Given the description of an element on the screen output the (x, y) to click on. 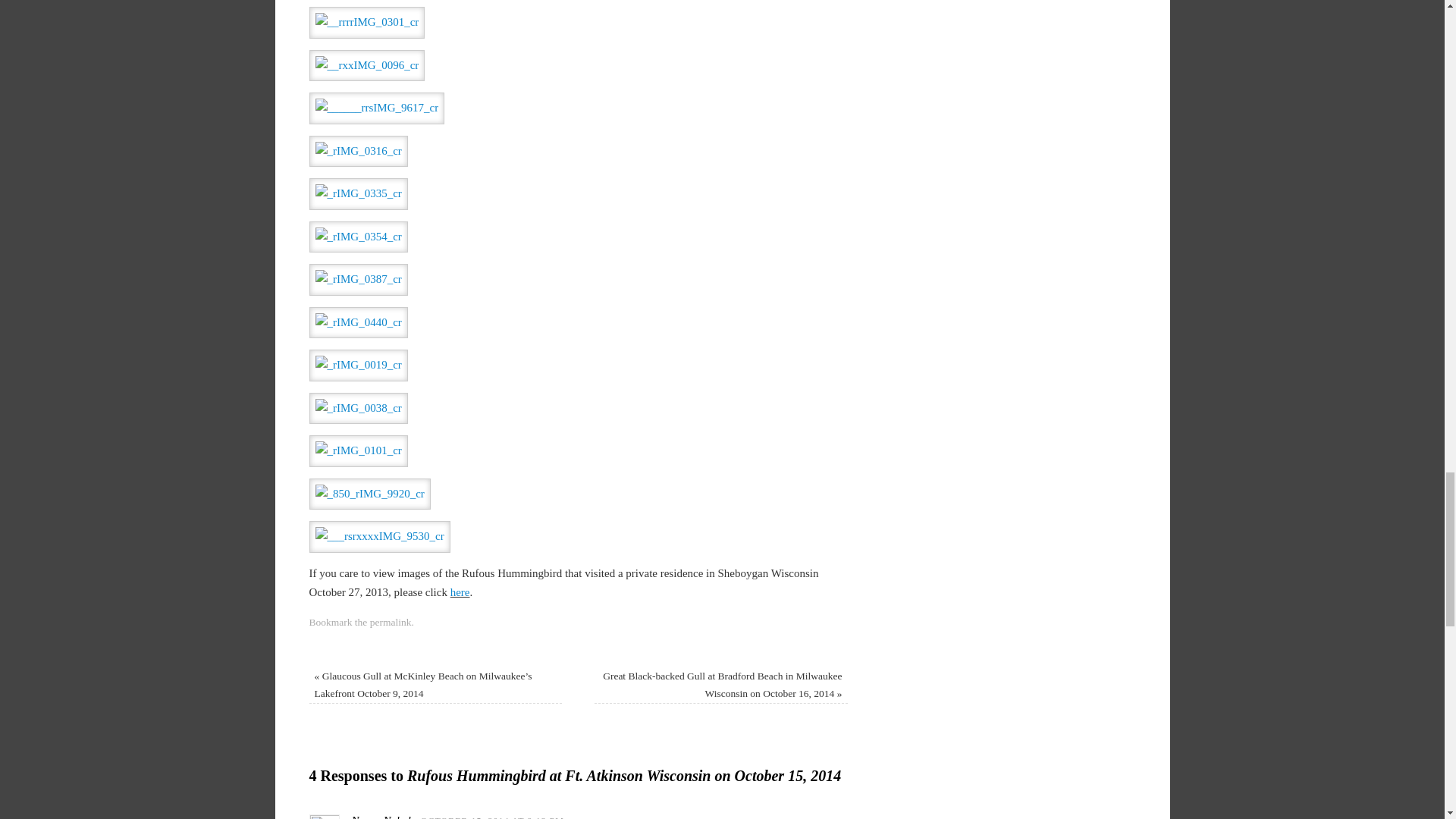
here (459, 592)
permalink (390, 622)
OCTOBER 15, 2014 AT 8:13 PM (492, 817)
